Given the description of an element on the screen output the (x, y) to click on. 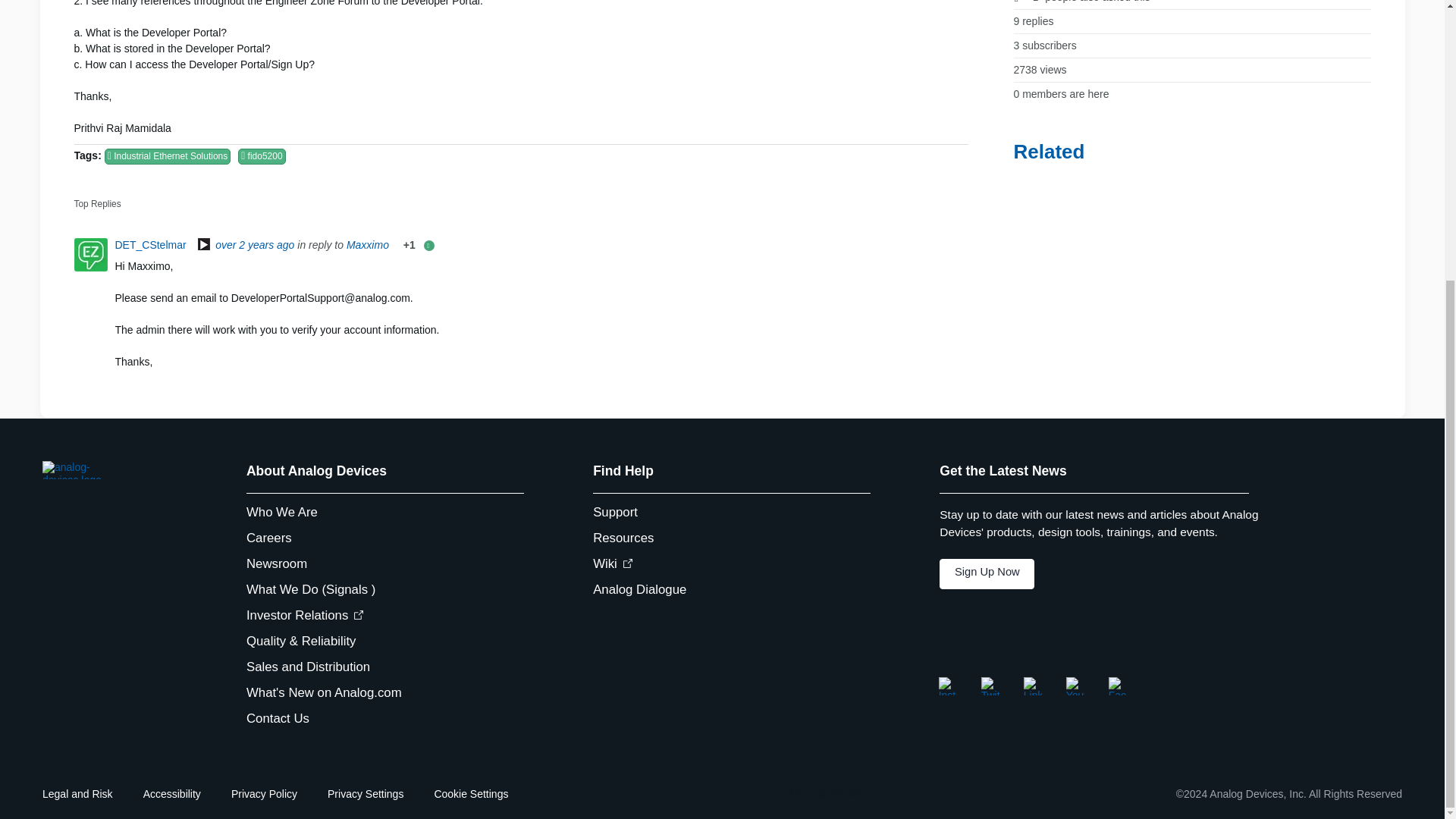
Analog Employees (203, 245)
